Given the description of an element on the screen output the (x, y) to click on. 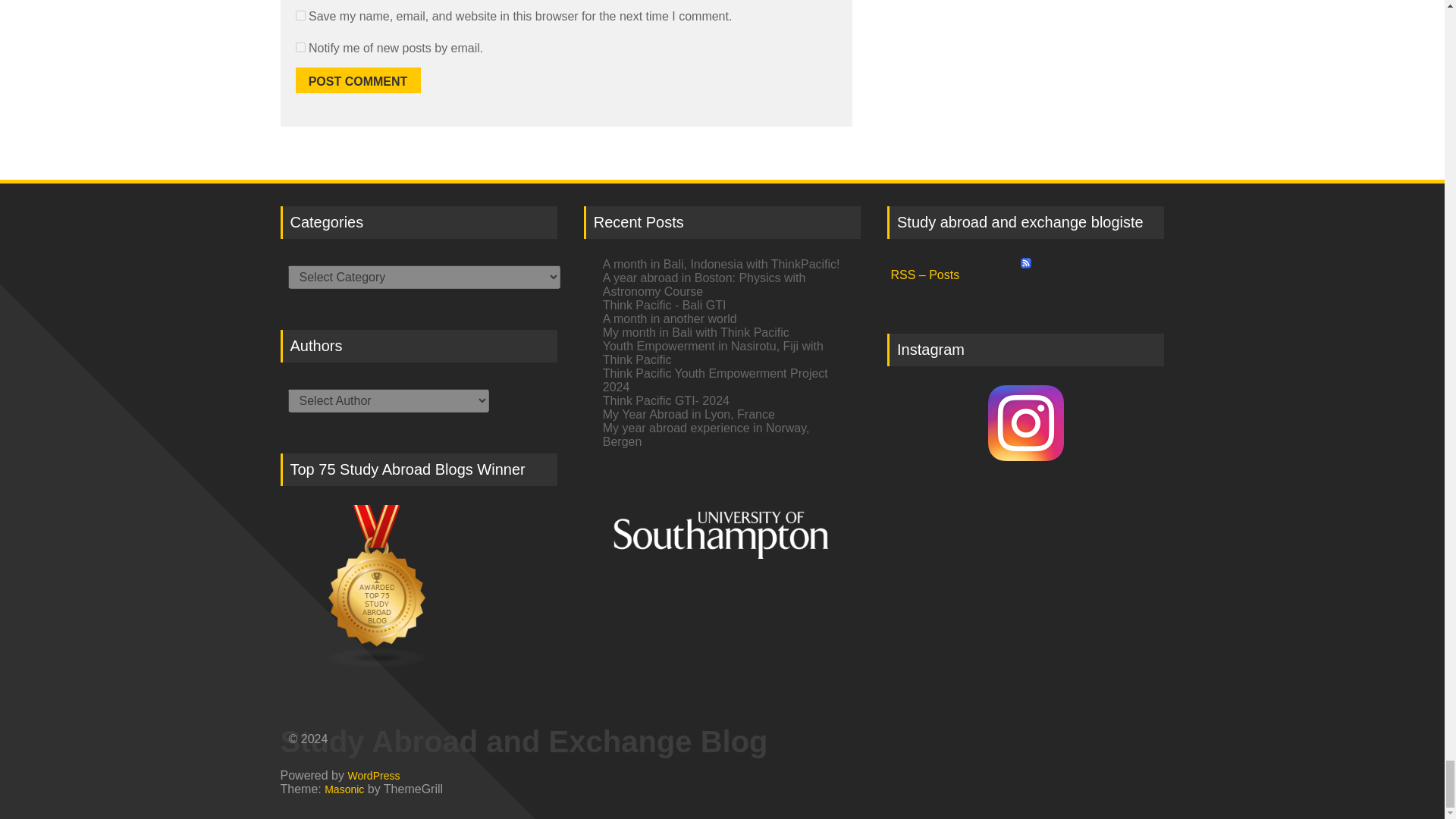
subscribe (300, 47)
Study Abroad Blogs (418, 587)
yes (300, 15)
Instagram (1024, 422)
Masonic (344, 788)
Post Comment (357, 80)
WordPress (372, 775)
Subscribe to posts (1024, 269)
